Given the description of an element on the screen output the (x, y) to click on. 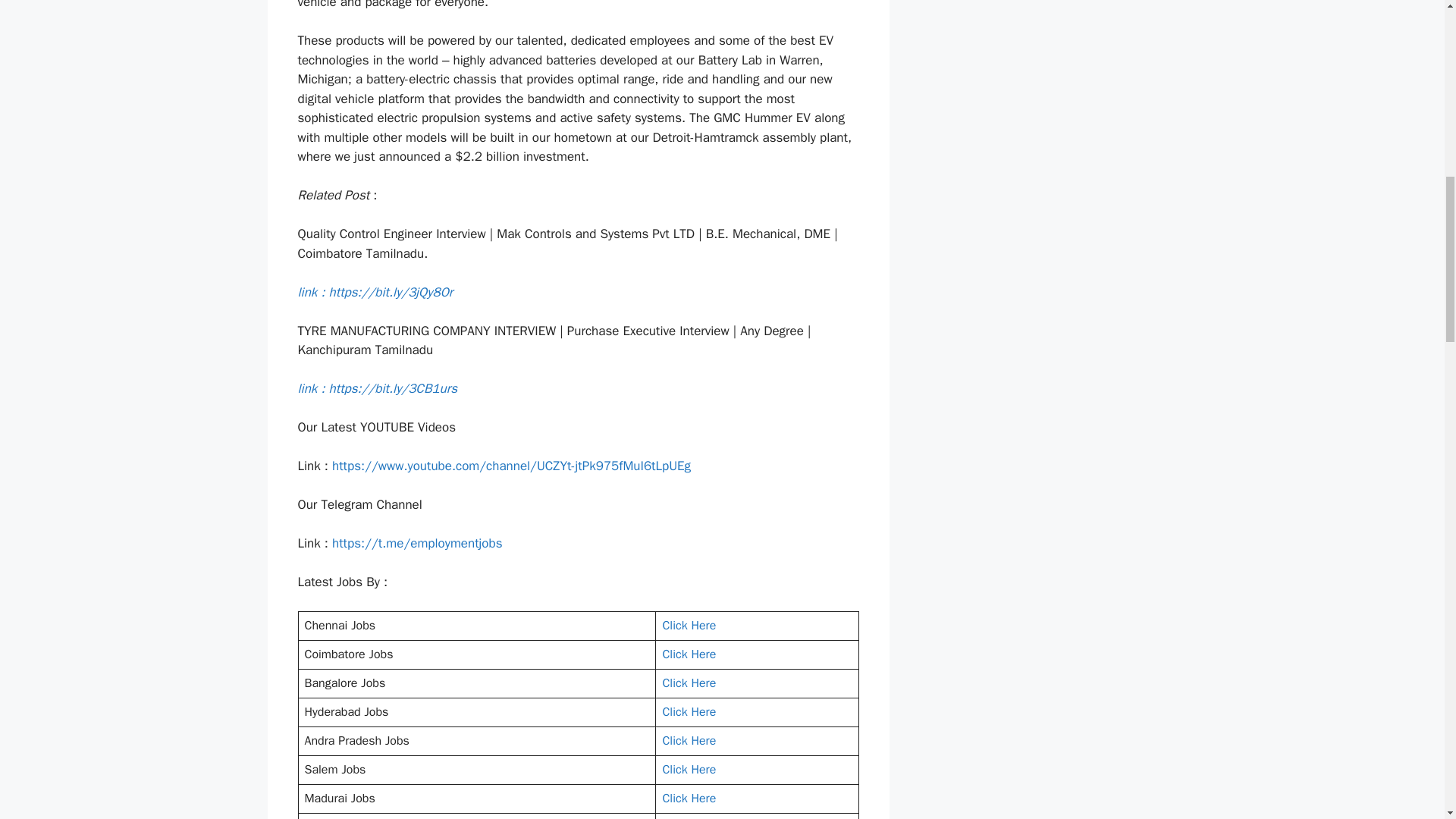
Click Here (689, 769)
Click Here (689, 711)
Click Here (689, 683)
Click Here (689, 740)
Click Here (689, 654)
Click Here (689, 625)
